Given the description of an element on the screen output the (x, y) to click on. 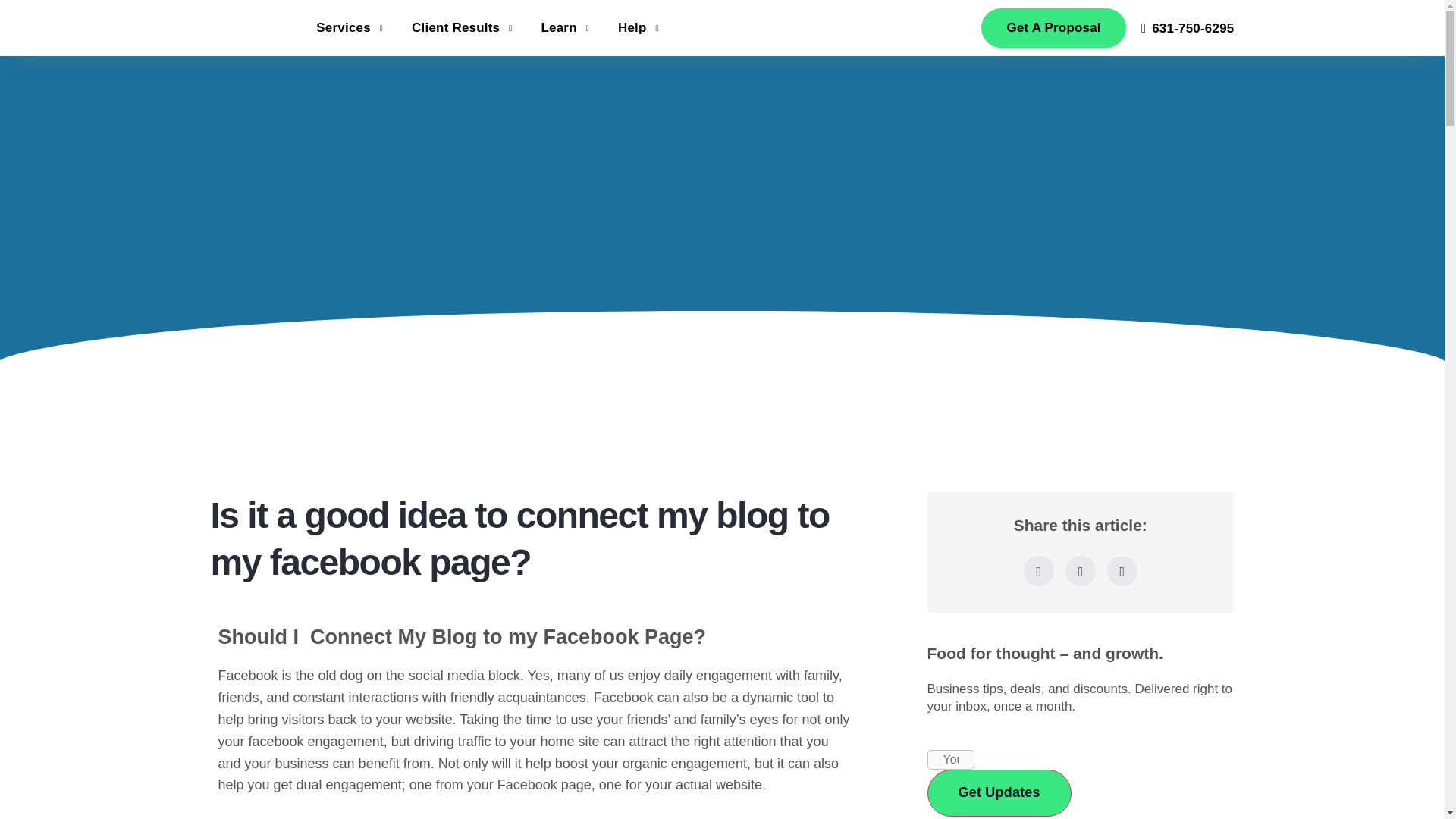
Services (351, 28)
Get Updates (998, 792)
Get A Proposal (1053, 27)
Client Results (463, 28)
631-750-6295 (1187, 28)
Help (640, 28)
Learn (566, 28)
